Given the description of an element on the screen output the (x, y) to click on. 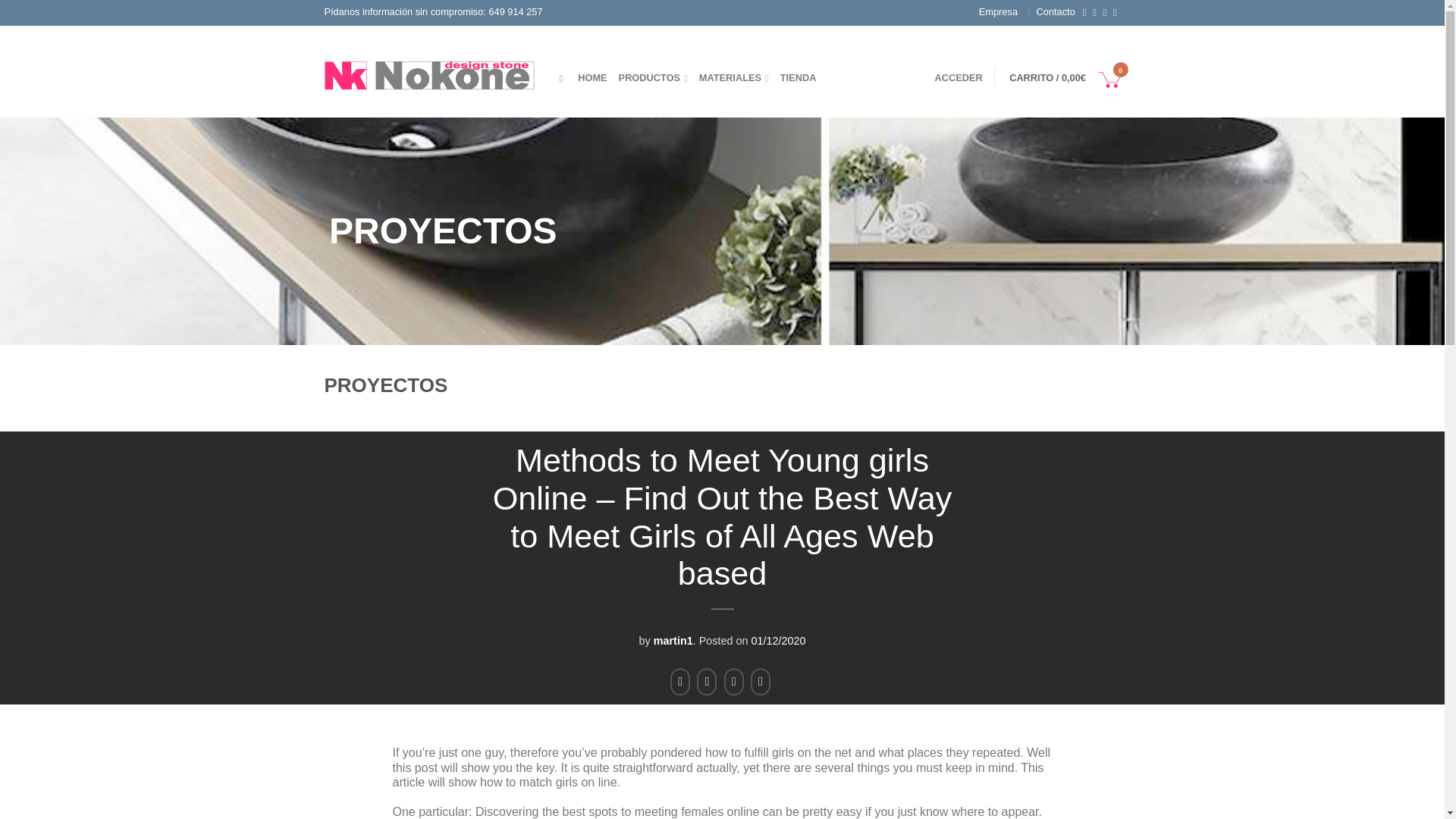
martin1 (673, 640)
Empresa (997, 11)
MATERIALES (733, 76)
Sobre Nokone (997, 11)
Contacta con Nokone (1055, 11)
TIENDA (798, 76)
ACCEDER (957, 76)
PRODUCTOS (652, 76)
View all posts by martin1 (673, 640)
12:00 am (778, 640)
Contacto (1055, 11)
HOME (592, 76)
